Given the description of an element on the screen output the (x, y) to click on. 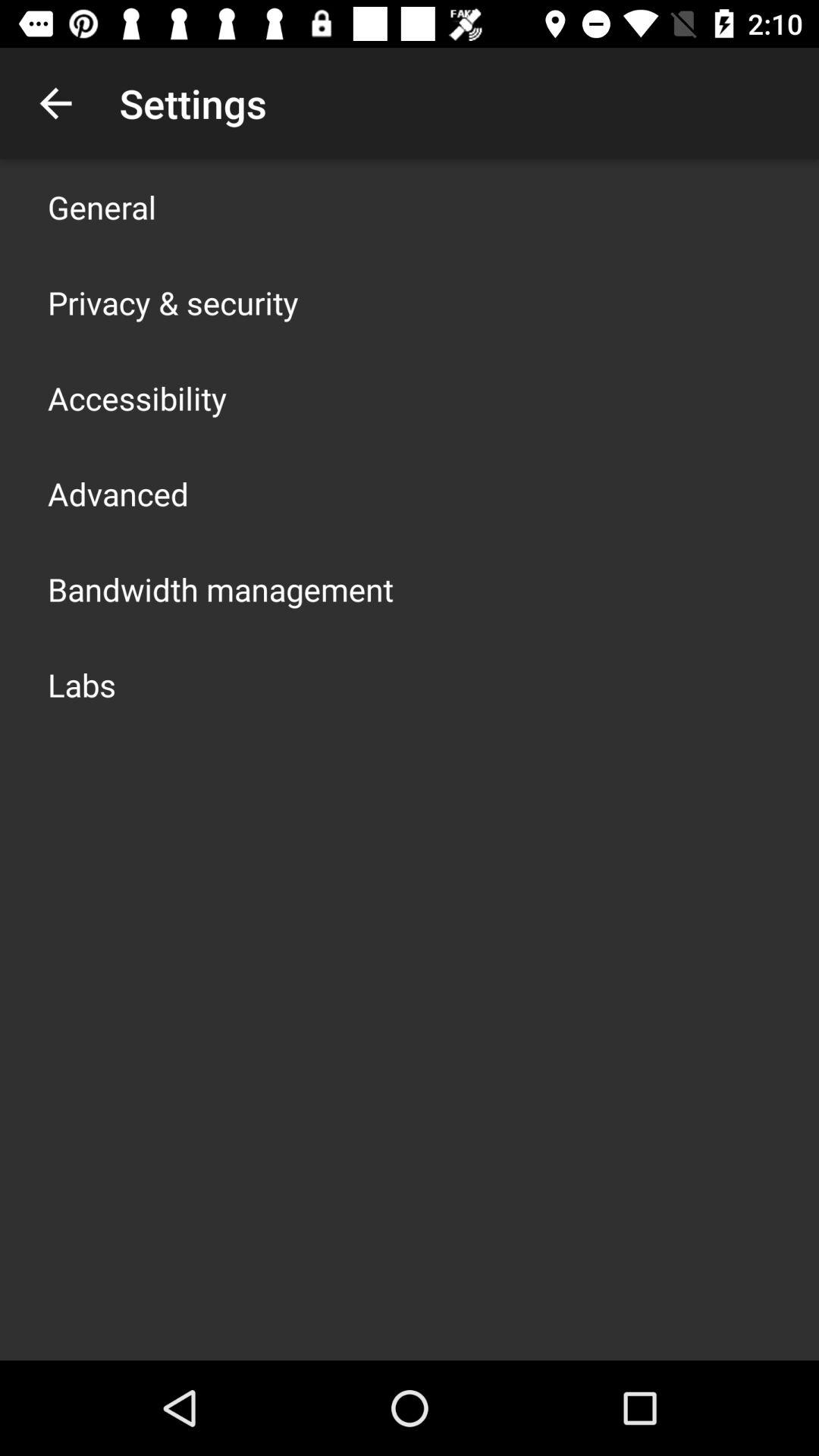
jump until bandwidth management icon (220, 588)
